Given the description of an element on the screen output the (x, y) to click on. 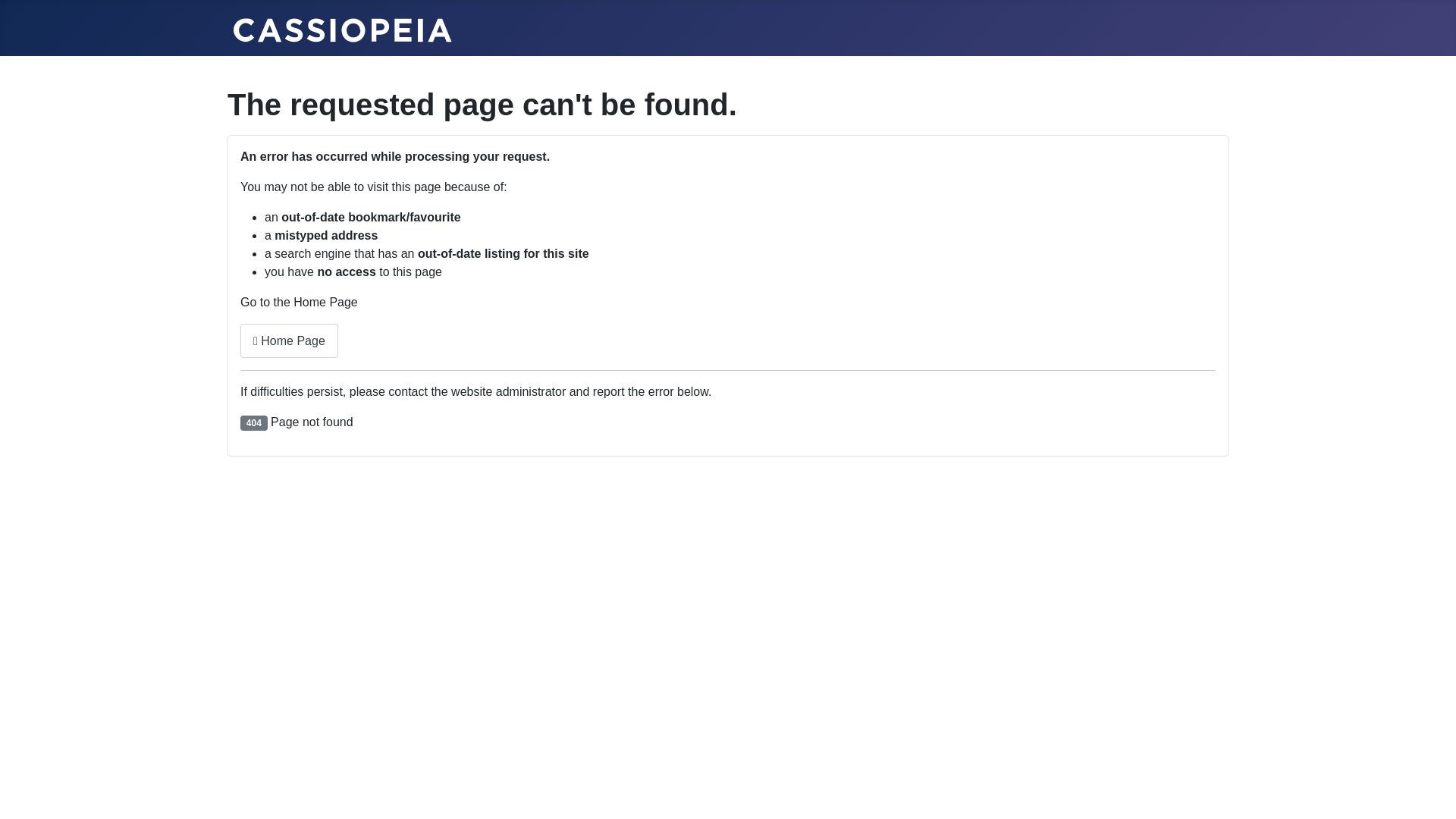
Home Page Element type: text (289, 340)
